Given the description of an element on the screen output the (x, y) to click on. 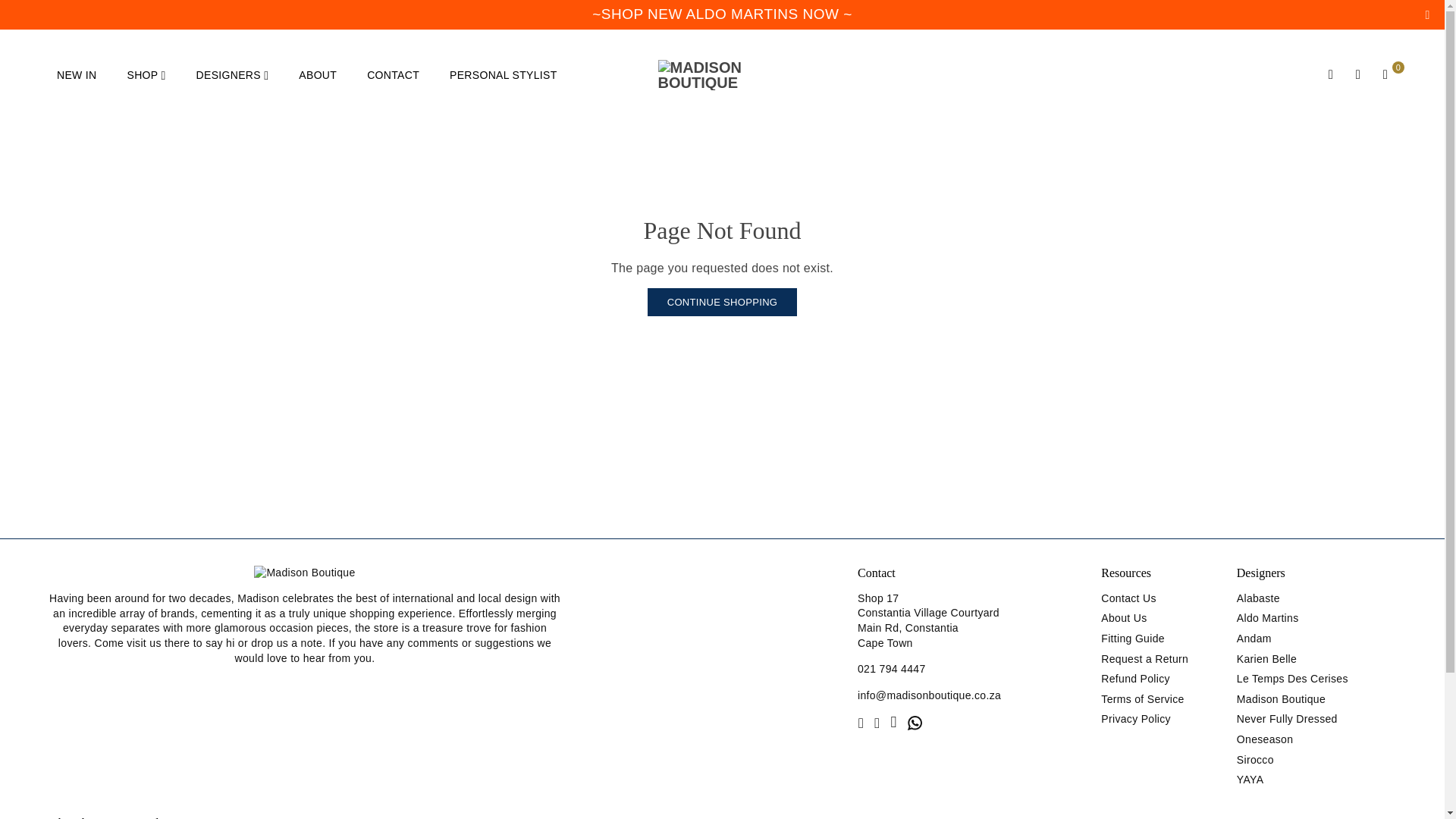
Madison Boutique on Pinterest (877, 722)
Madison Boutique on Whatsapp (914, 722)
Cart (1385, 74)
Search (1330, 74)
NEW IN (76, 74)
Madison Boutique on Instagram (893, 722)
Settings (1357, 74)
MADISON BOUTIQUE (721, 74)
ABOUT (316, 74)
SHOP (145, 74)
